Given the description of an element on the screen output the (x, y) to click on. 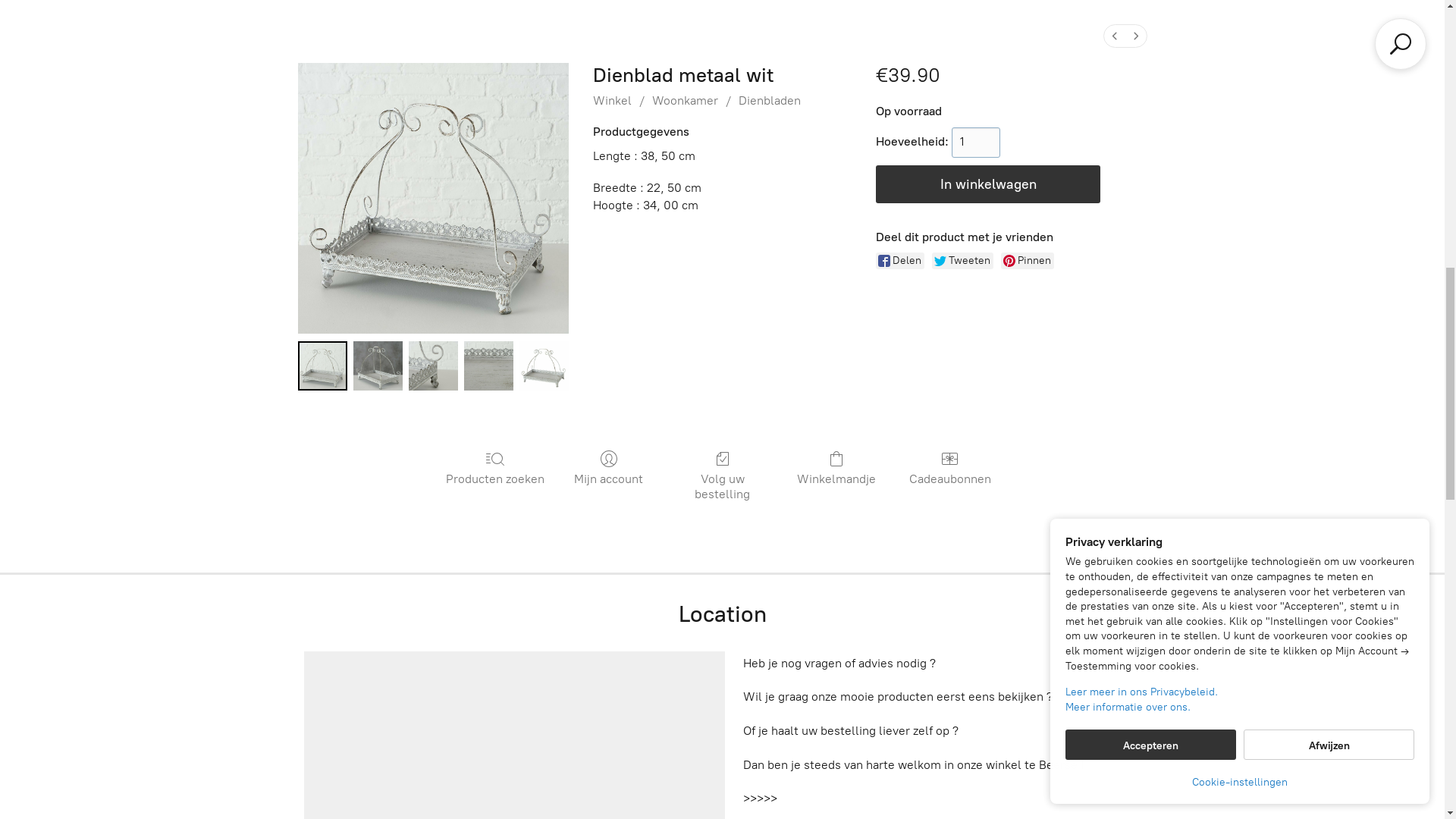
Locatie Element type: text (194, 29)
Over ons Element type: text (120, 29)
Routebeschrijving Element type: text (1301, 28)
Winkel Element type: text (49, 29)
Contact Element type: text (265, 29)
